Given the description of an element on the screen output the (x, y) to click on. 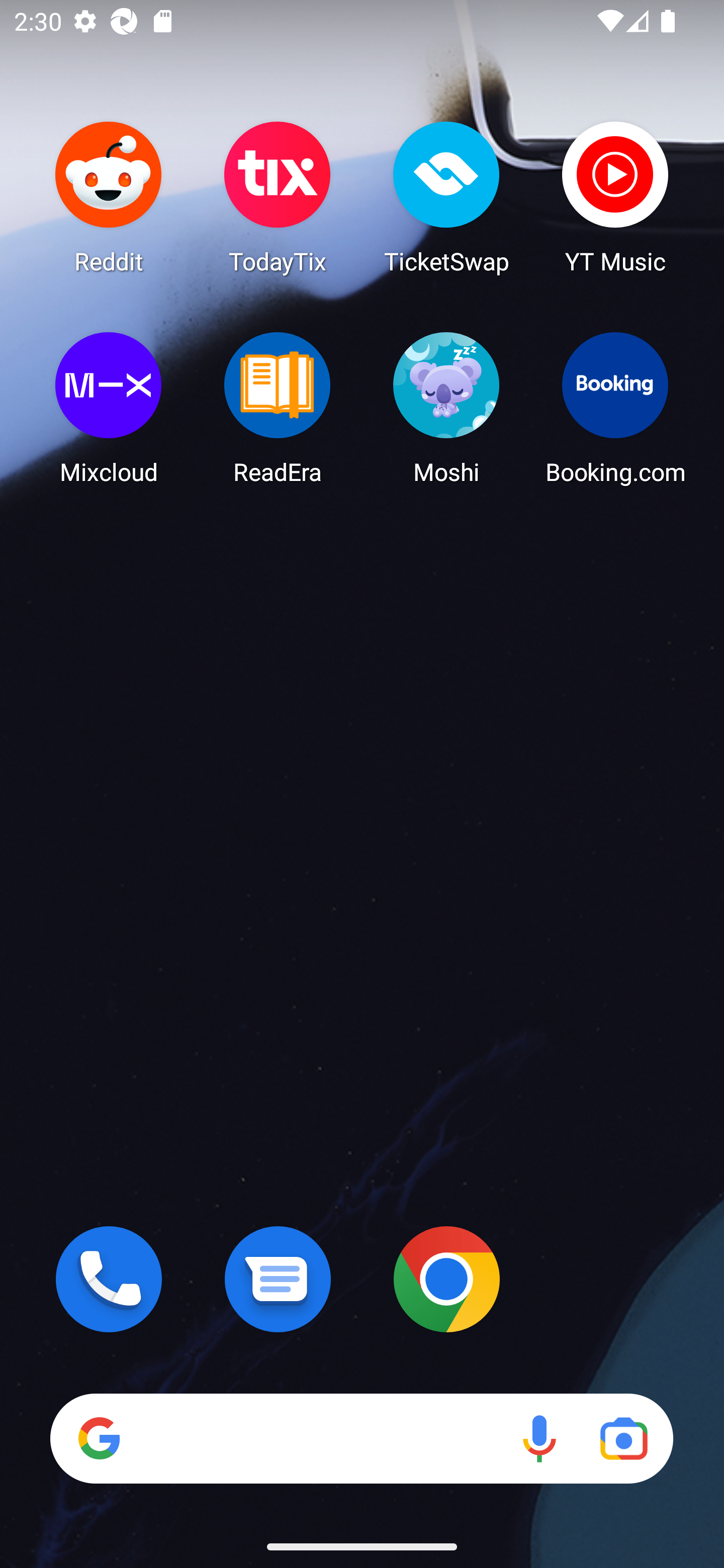
Reddit (108, 196)
TodayTix (277, 196)
TicketSwap (445, 196)
YT Music (615, 196)
Mixcloud (108, 407)
ReadEra (277, 407)
Moshi (445, 407)
Booking.com (615, 407)
Phone (108, 1279)
Messages (277, 1279)
Chrome (446, 1279)
Search Voice search Google Lens (361, 1438)
Voice search (539, 1438)
Google Lens (623, 1438)
